Given the description of an element on the screen output the (x, y) to click on. 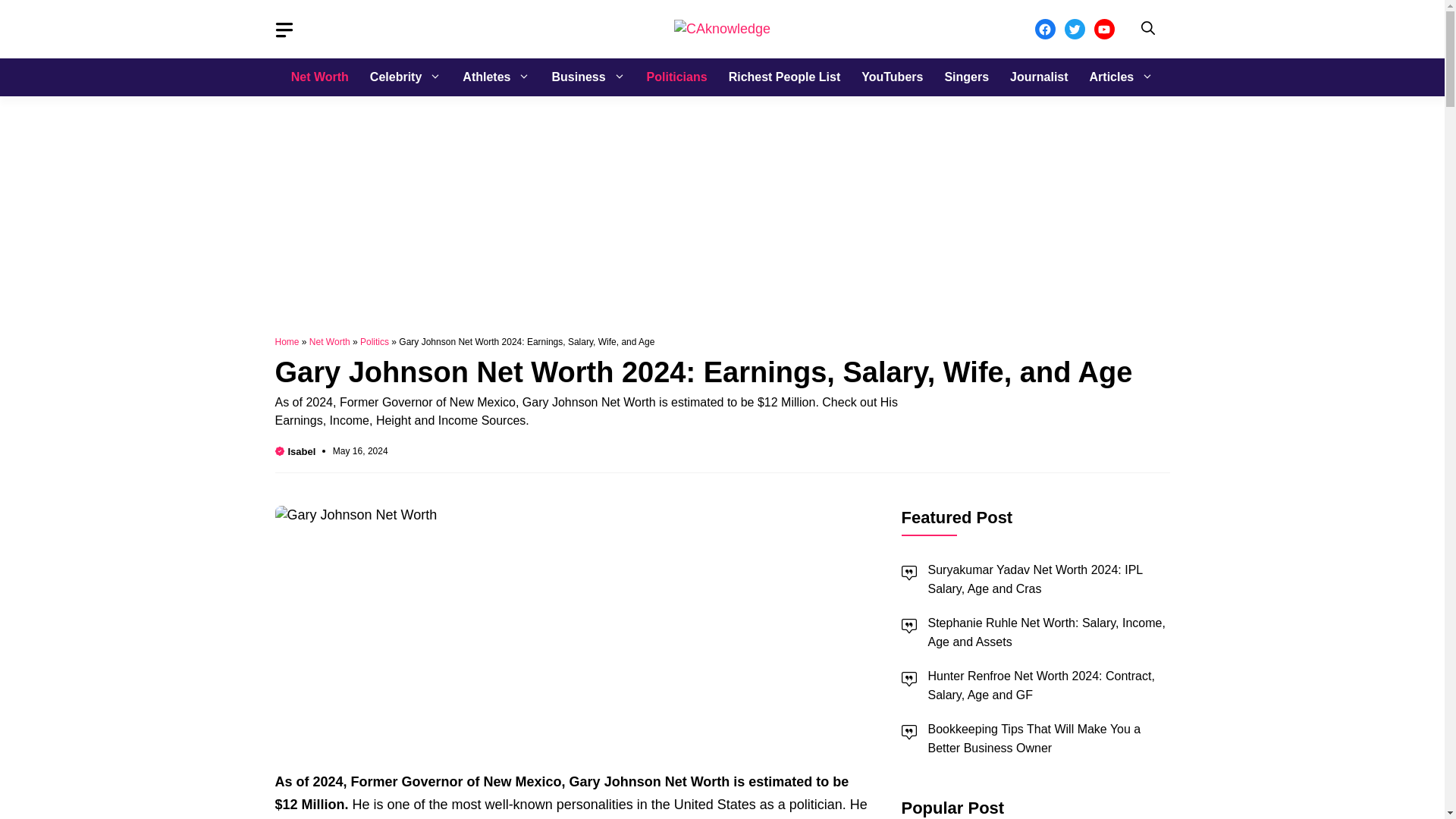
Politicians (676, 77)
Business (587, 77)
YouTube (1103, 28)
Facebook (1043, 28)
Athletes (495, 77)
Twitter (1074, 28)
Net Worth (319, 77)
Celebrity (405, 77)
